Given the description of an element on the screen output the (x, y) to click on. 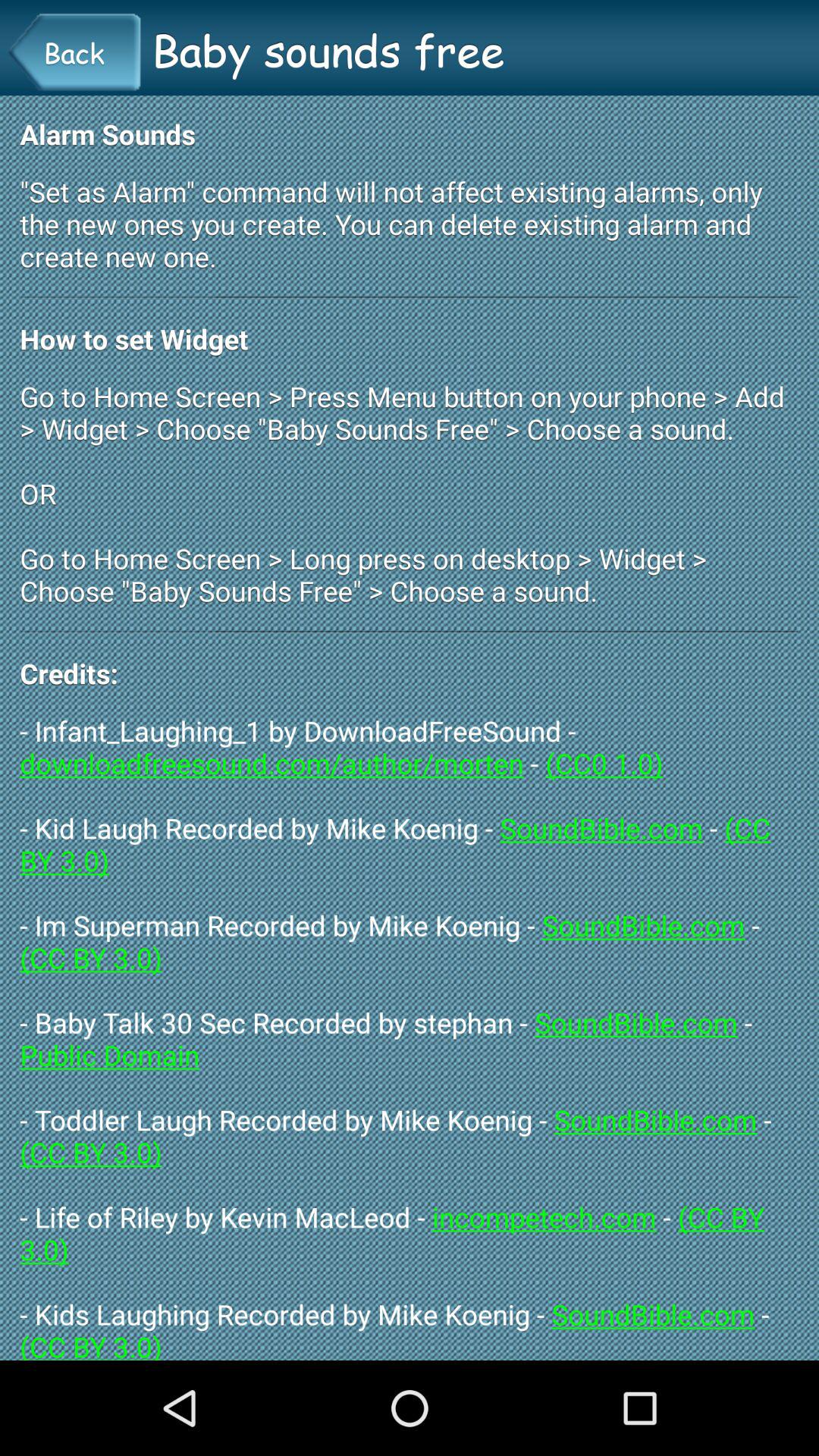
launch the infant_laughing_1 by downloadfreesound app (409, 1036)
